Given the description of an element on the screen output the (x, y) to click on. 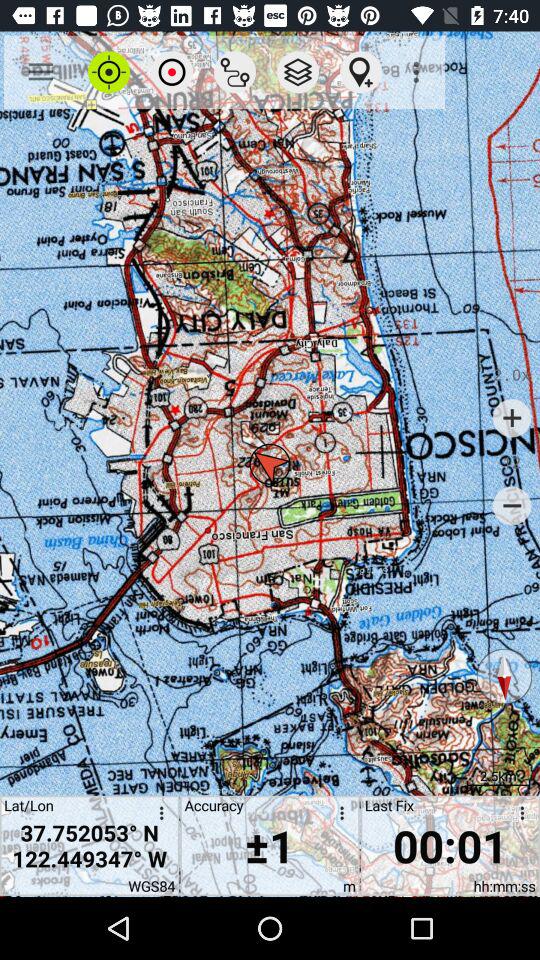
select icon above the accuracy icon (234, 71)
